Given the description of an element on the screen output the (x, y) to click on. 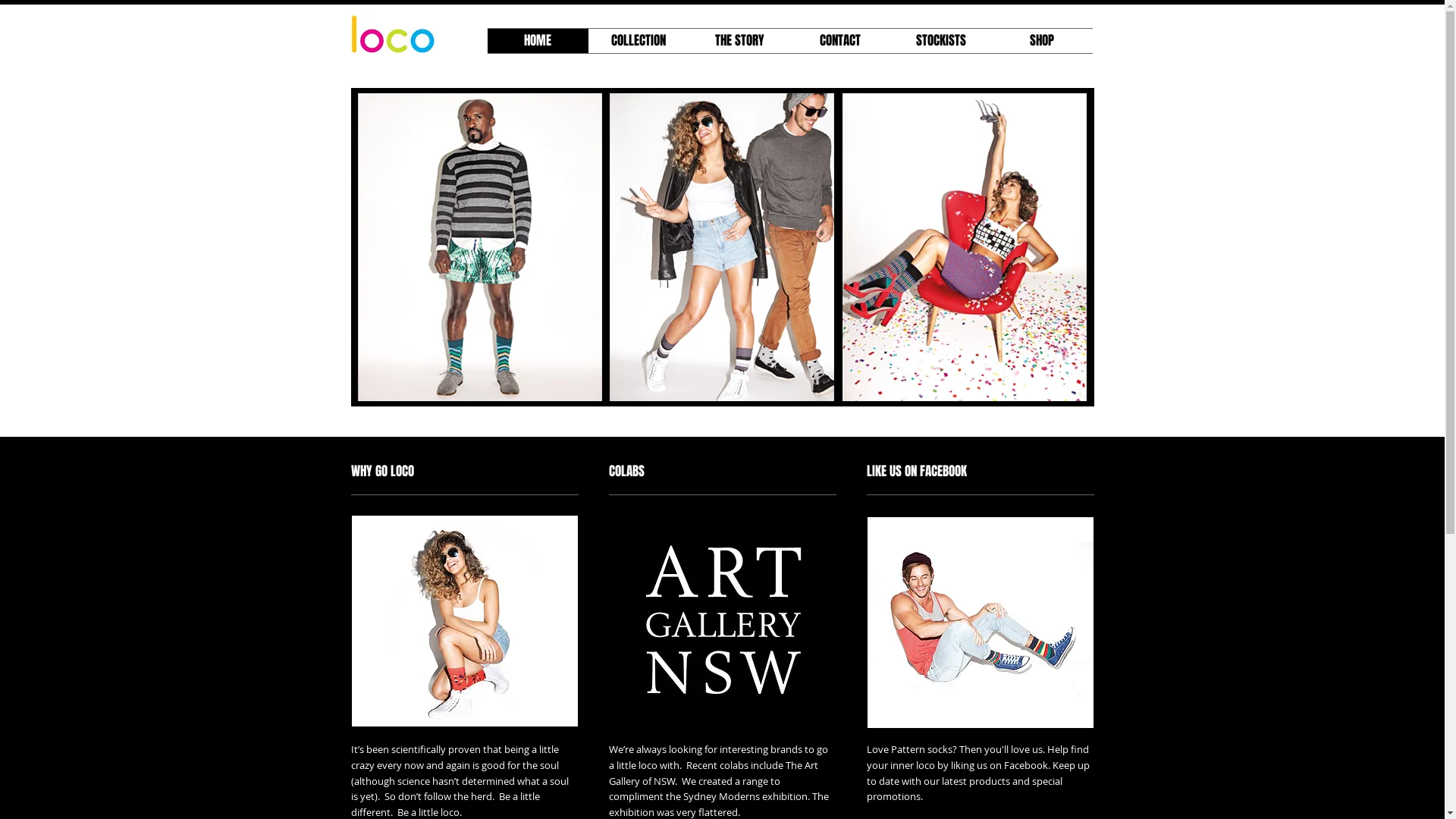
HOME Element type: text (536, 40)
STOCKISTS Element type: text (940, 40)
THE STORY Element type: text (738, 40)
SHOP Element type: text (1041, 40)
CONTACT Element type: text (840, 40)
Insta.jpg Element type: hover (979, 622)
COLLECTION Element type: text (638, 40)
IMG_1002_square1.jpg Element type: hover (463, 620)
